Given the description of an element on the screen output the (x, y) to click on. 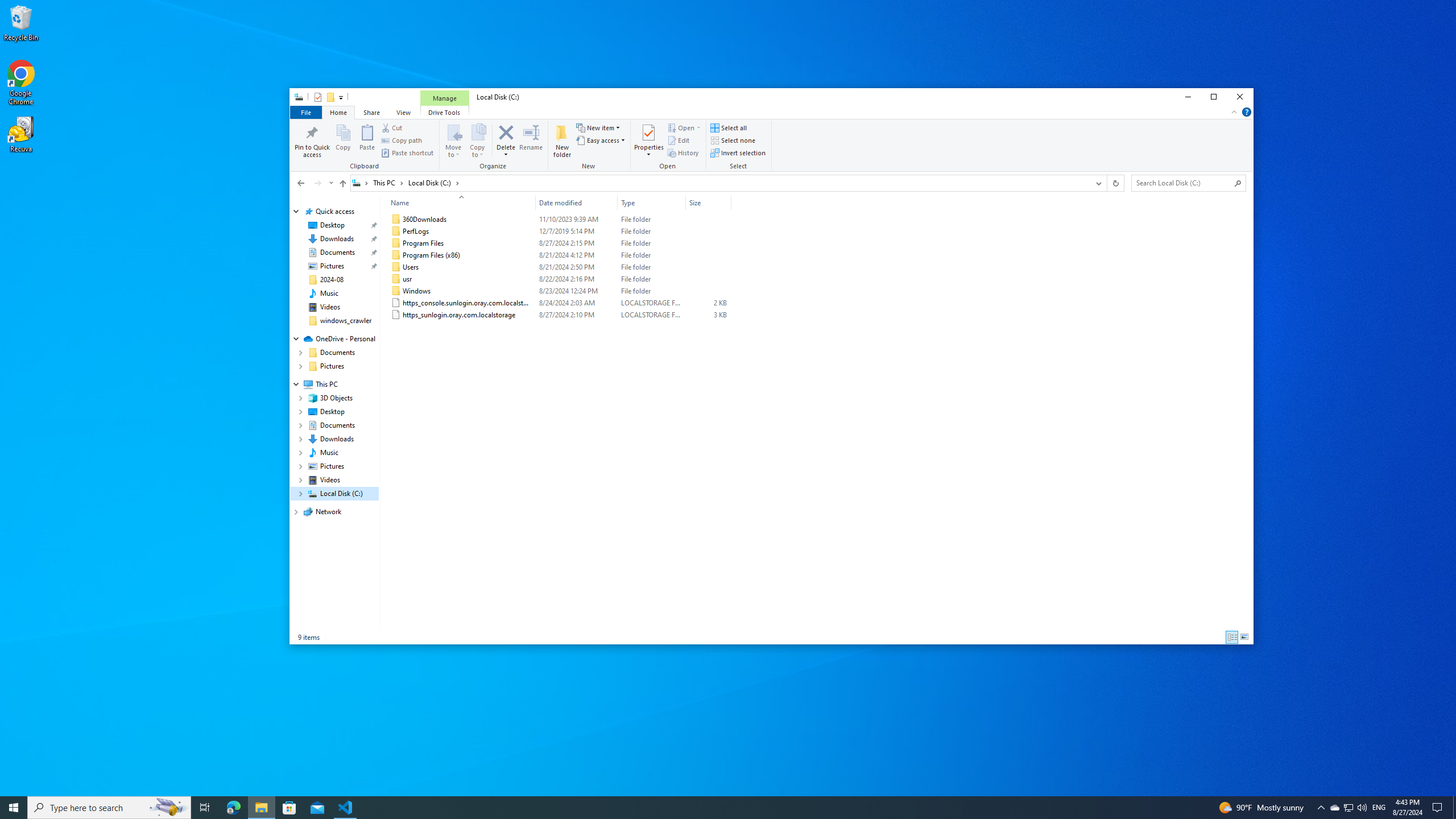
All locations (360, 182)
Easy access (600, 140)
Open (698, 128)
Name (468, 314)
File tab (305, 111)
Local Disk (C:) (433, 182)
History (682, 152)
Quick access (334, 211)
Move to (453, 140)
Previous Locations (1097, 182)
Select (739, 145)
New item (598, 128)
Task View (204, 807)
New (589, 145)
Copy path (401, 140)
